Given the description of an element on the screen output the (x, y) to click on. 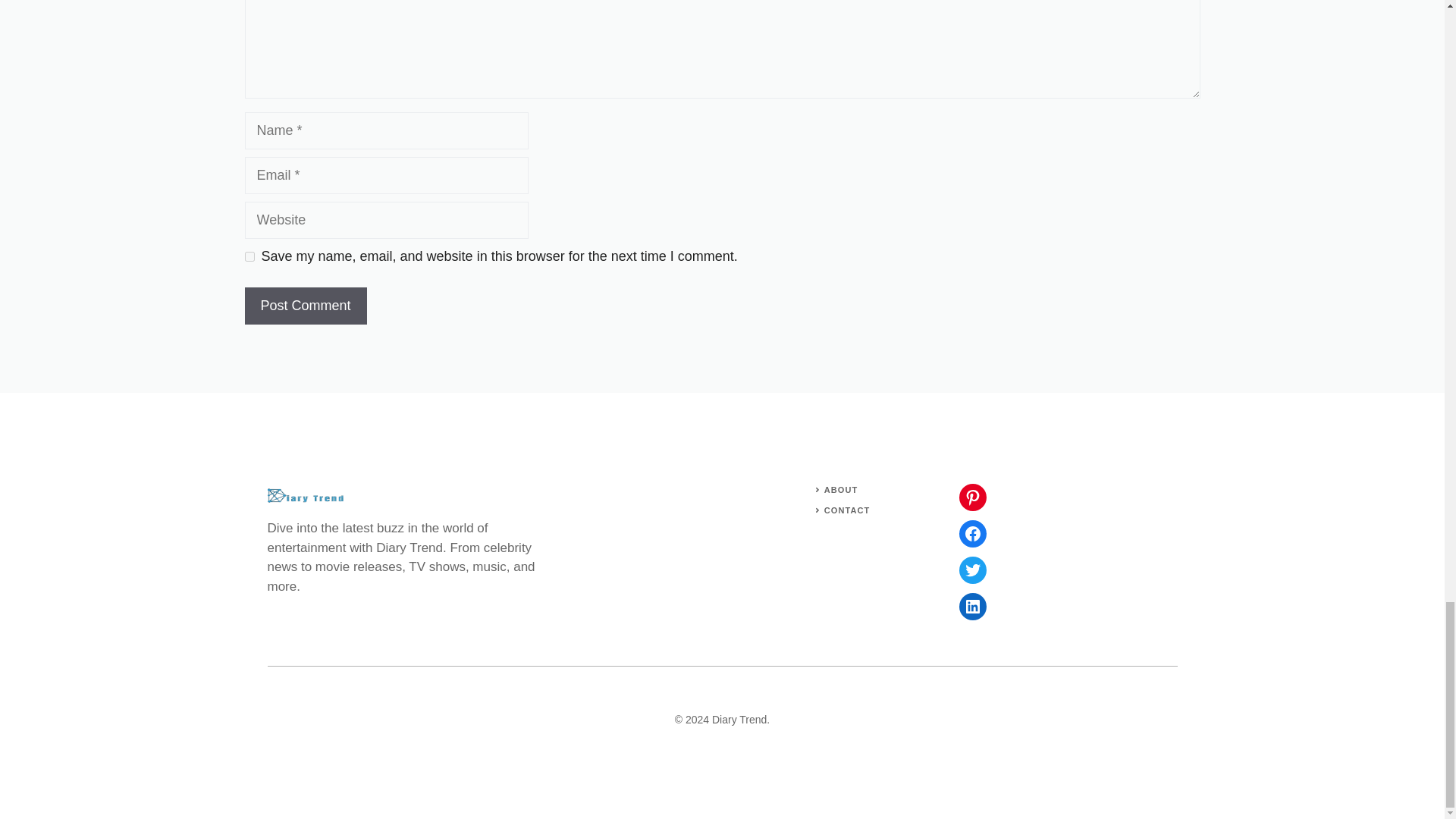
yes (248, 256)
Twitter (971, 569)
LinkedIn (971, 605)
Diary Trend (739, 719)
Pinterest (971, 497)
Post Comment (305, 305)
CONTACT (847, 510)
Post Comment (305, 305)
Facebook (971, 533)
ABOUT (841, 489)
